Given the description of an element on the screen output the (x, y) to click on. 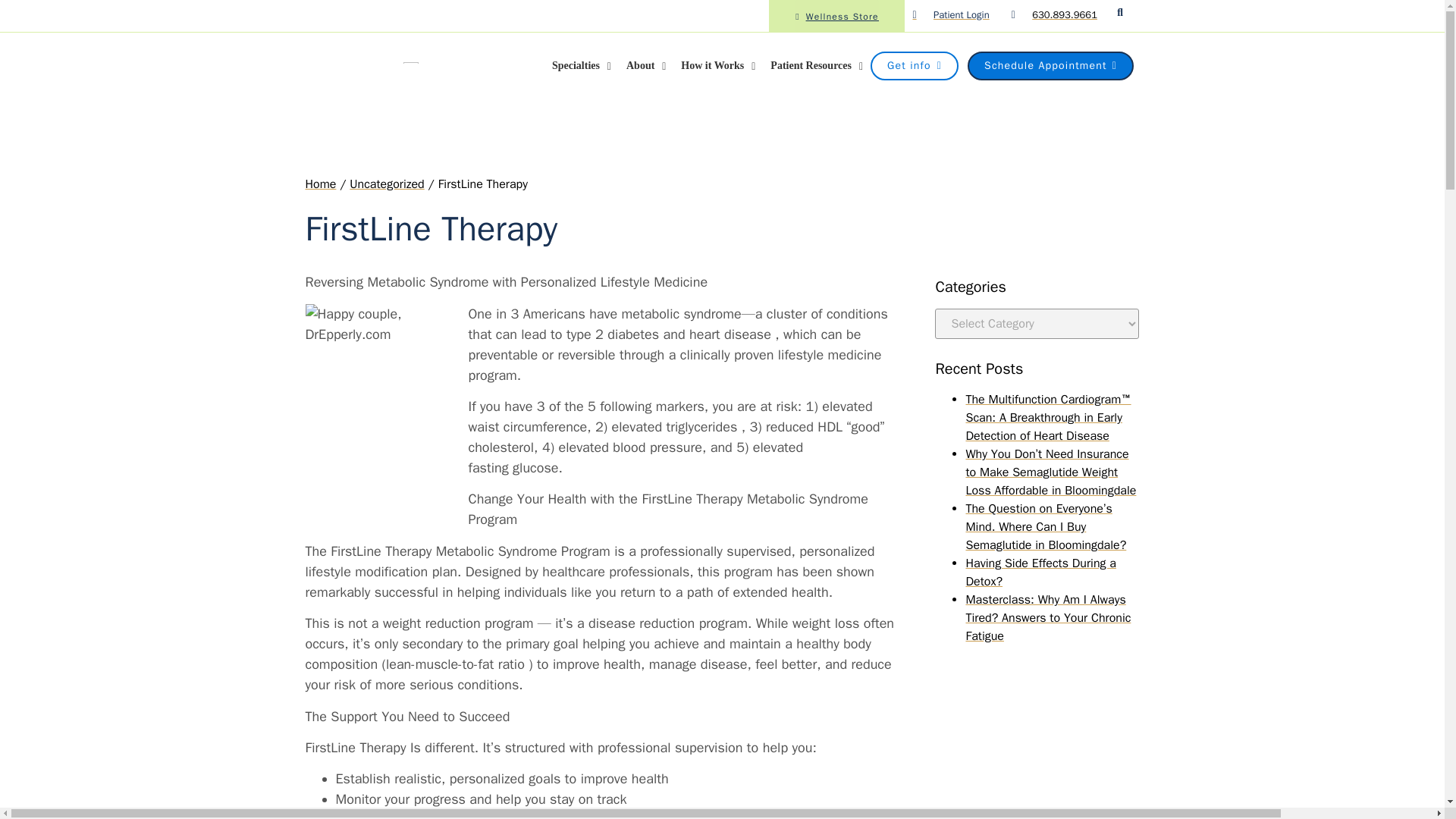
Go to Home (320, 183)
Wellness Store (835, 15)
Specialties (581, 65)
630.893.9661 (1064, 14)
Patient Login (950, 14)
Go to the Uncategorized category archives. (386, 183)
